Given the description of an element on the screen output the (x, y) to click on. 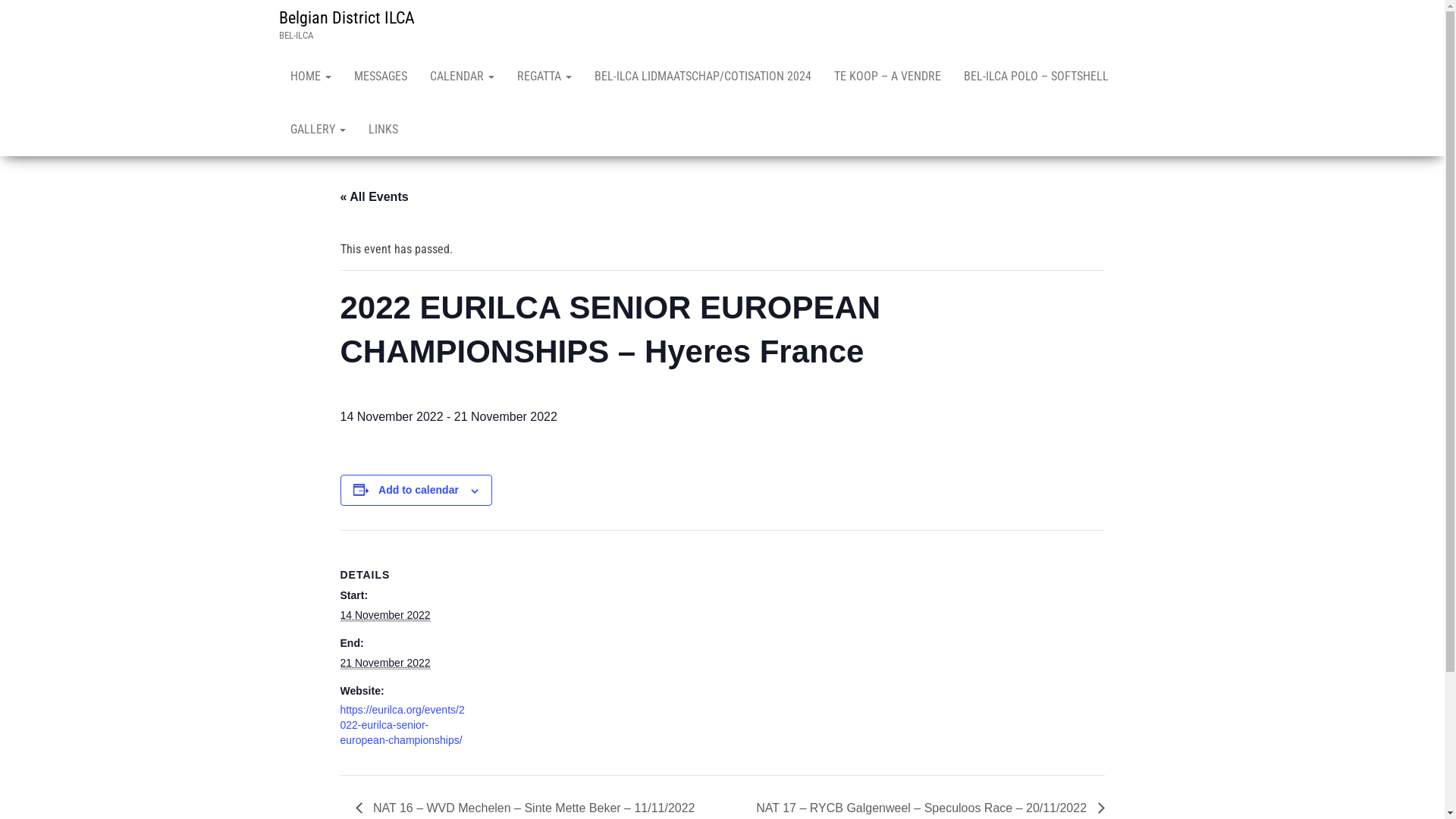
MESSAGES Element type: text (380, 76)
GALLERY Element type: text (318, 129)
Add to calendar Element type: text (418, 489)
BEL-ILCA LIDMAATSCHAP/COTISATION 2024 Element type: text (702, 76)
Belgian District ILCA Element type: text (346, 17)
REGATTA Element type: text (543, 76)
HOME Element type: text (310, 76)
LINKS Element type: text (382, 129)
CALENDAR Element type: text (461, 76)
